Given the description of an element on the screen output the (x, y) to click on. 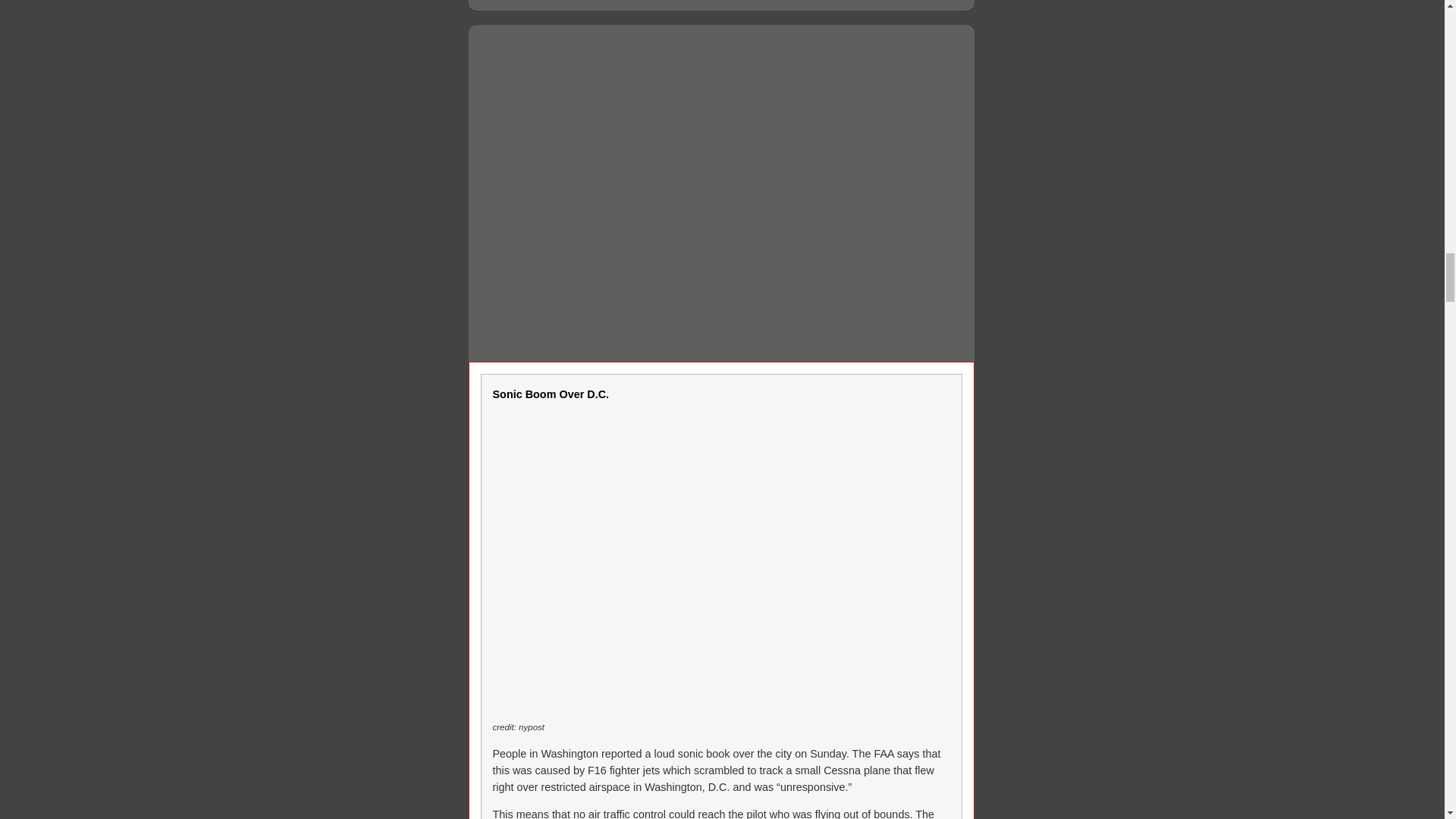
credit:  (506, 727)
